Given the description of an element on the screen output the (x, y) to click on. 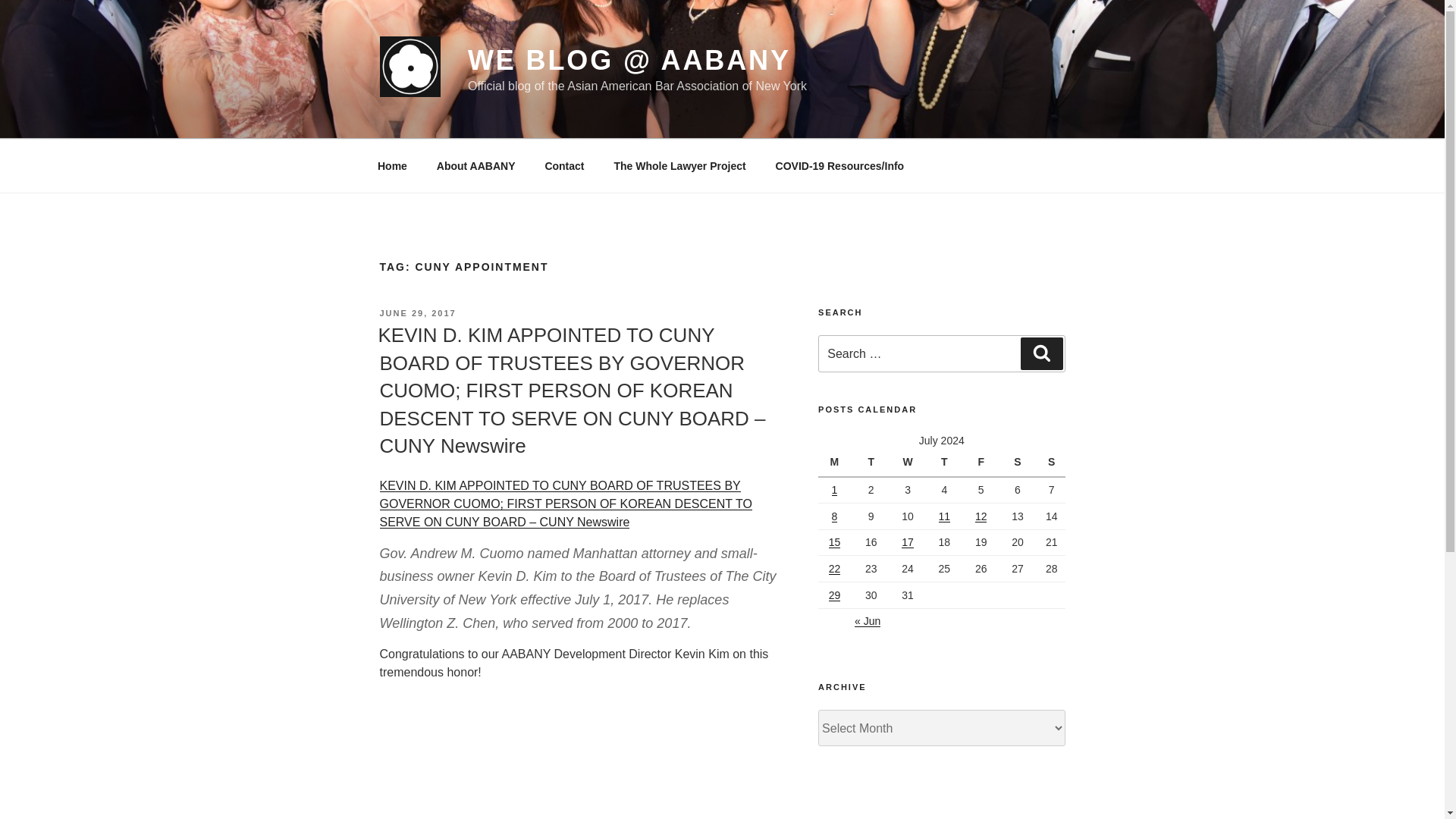
JUNE 29, 2017 (416, 312)
Saturday (1019, 462)
15 (834, 541)
11 (944, 516)
17 (907, 541)
Friday (982, 462)
Monday (836, 462)
Thursday (945, 462)
Tuesday (872, 462)
Home (392, 165)
About AABANY (475, 165)
29 (834, 594)
Contact (563, 165)
Search (1041, 353)
12 (981, 516)
